Given the description of an element on the screen output the (x, y) to click on. 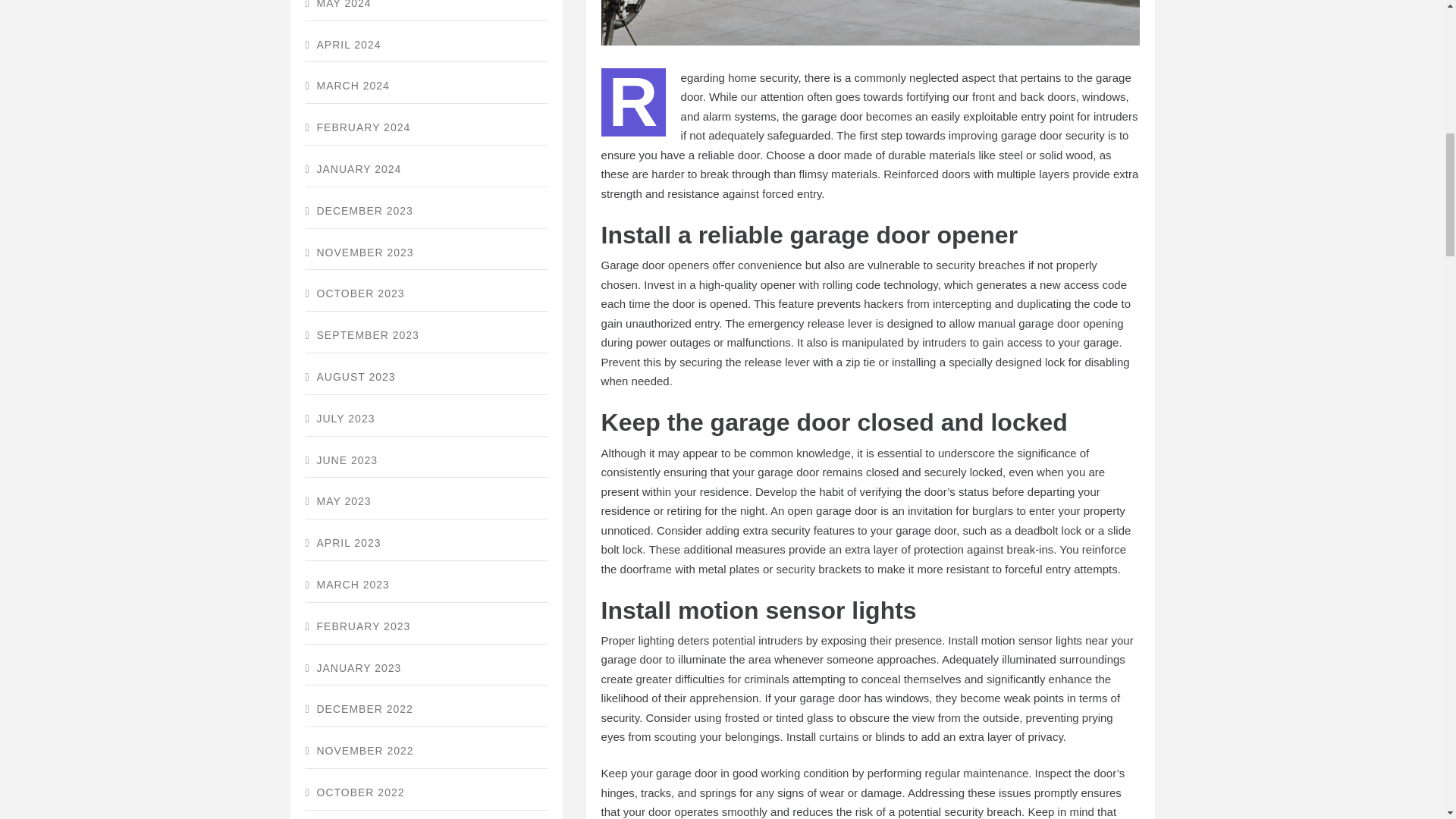
FEBRUARY 2024 (425, 128)
OCTOBER 2023 (425, 294)
MAY 2023 (425, 502)
JULY 2023 (425, 419)
MAY 2024 (425, 10)
JANUARY 2024 (425, 170)
MARCH 2023 (425, 585)
JUNE 2023 (425, 461)
AUGUST 2023 (425, 377)
DECEMBER 2023 (425, 211)
